Given the description of an element on the screen output the (x, y) to click on. 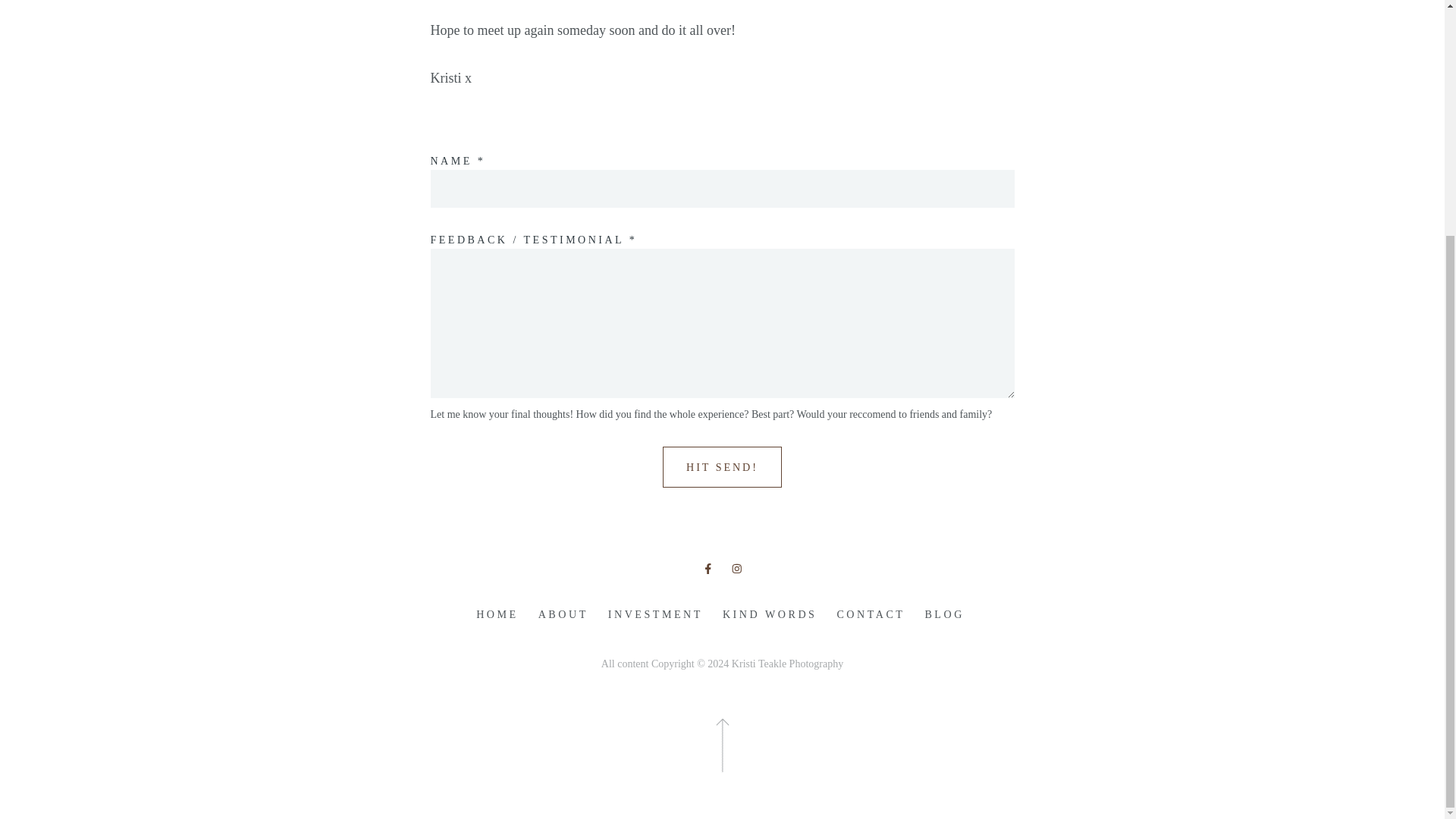
BLOG (943, 614)
INVESTMENT (655, 614)
HOME (497, 614)
CONTACT (870, 614)
KIND WORDS (770, 614)
HIT SEND! (721, 466)
ABOUT (563, 614)
